Given the description of an element on the screen output the (x, y) to click on. 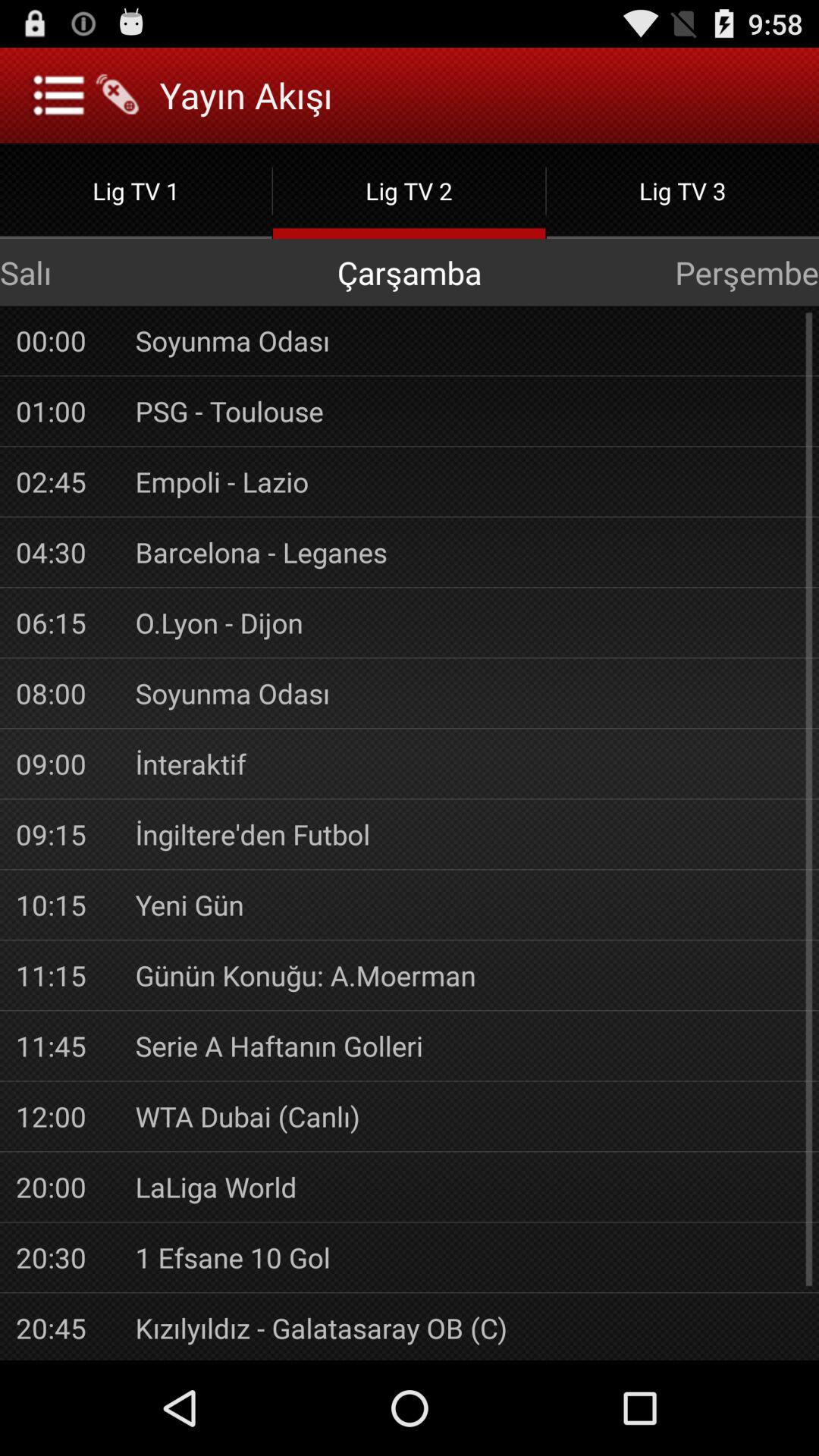
launch the app to the right of 10:15 item (469, 904)
